Given the description of an element on the screen output the (x, y) to click on. 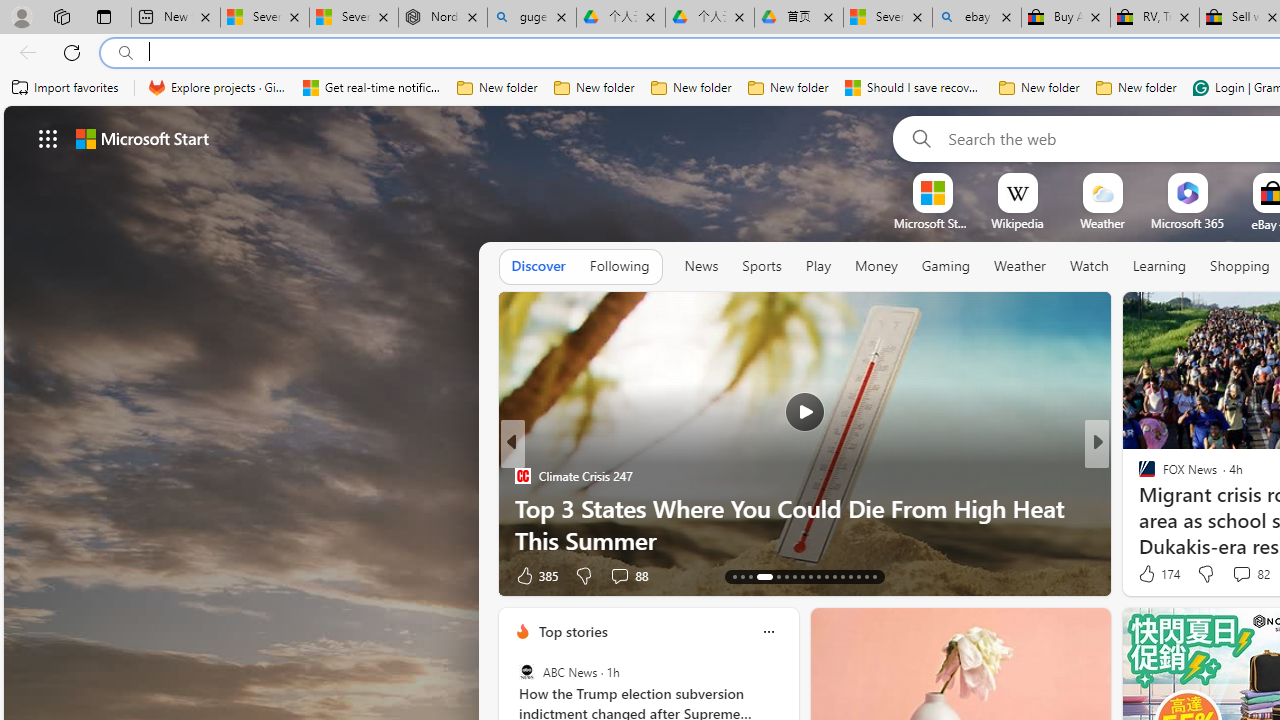
661 Like (1151, 574)
AutomationID: tab-28 (865, 576)
Top 3 States Where You Could Die From High Heat This Summer (804, 523)
View comments 10 Comment (1229, 575)
Top stories (572, 631)
AutomationID: tab-29 (874, 576)
82 Like (1149, 574)
View comments 2 Comment (1229, 575)
Forge of Empires (1175, 507)
Money (875, 265)
AutomationID: tab-25 (842, 576)
